Given the description of an element on the screen output the (x, y) to click on. 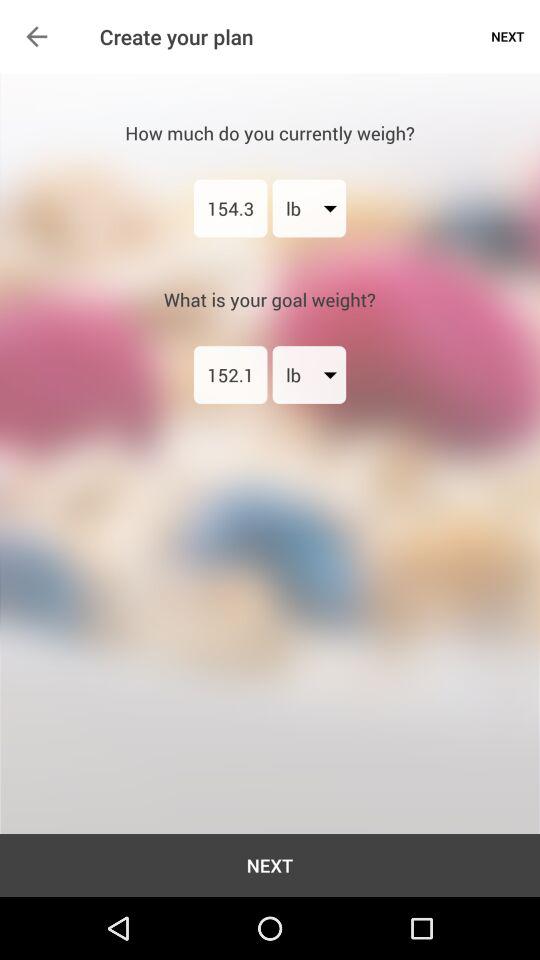
flip to 152.1 (230, 374)
